Given the description of an element on the screen output the (x, y) to click on. 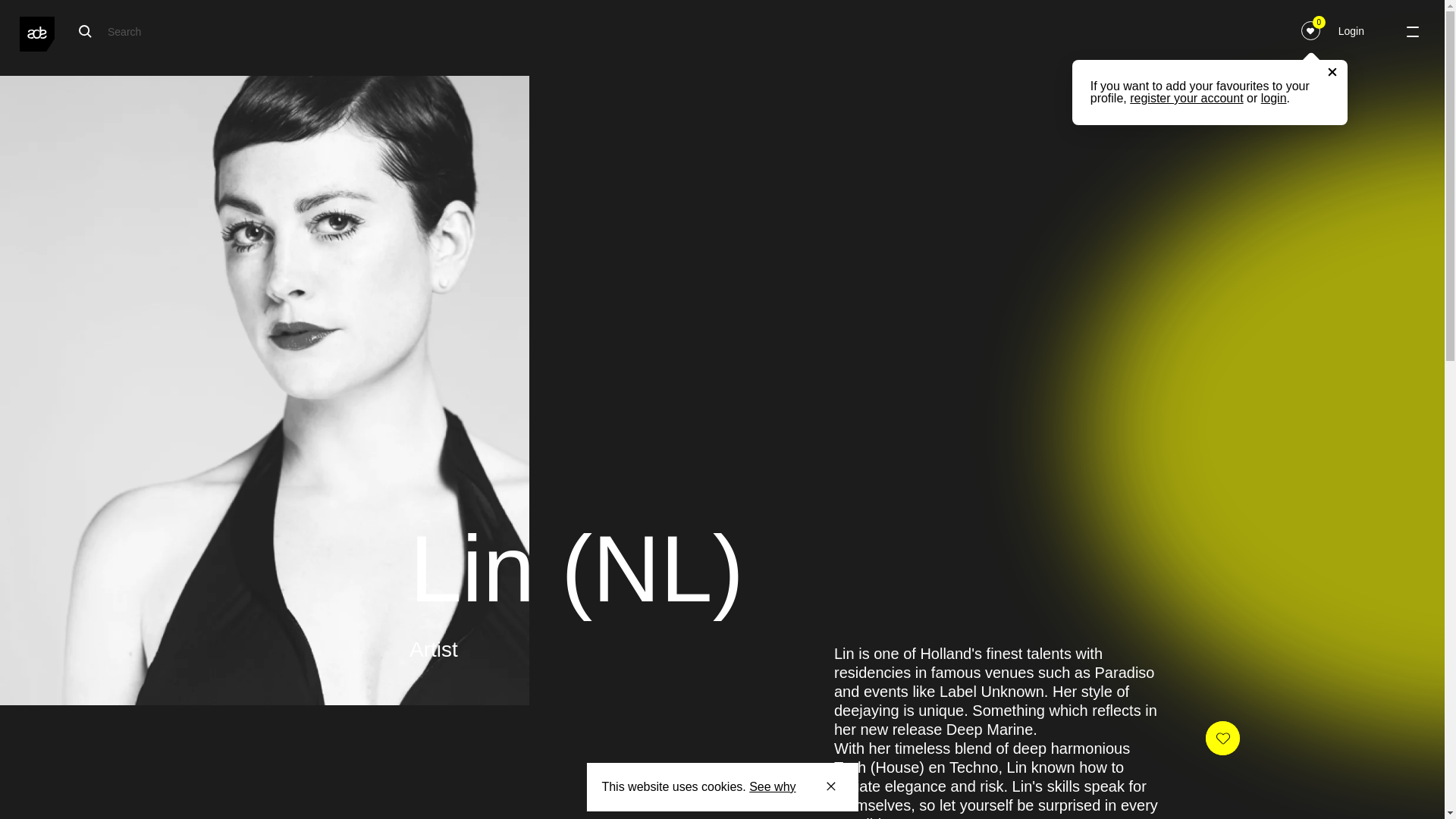
Search (250, 31)
register your account (1186, 97)
login (1273, 97)
0 (1310, 30)
navCreated with Sketch. (831, 786)
Login (1350, 30)
